Given the description of an element on the screen output the (x, y) to click on. 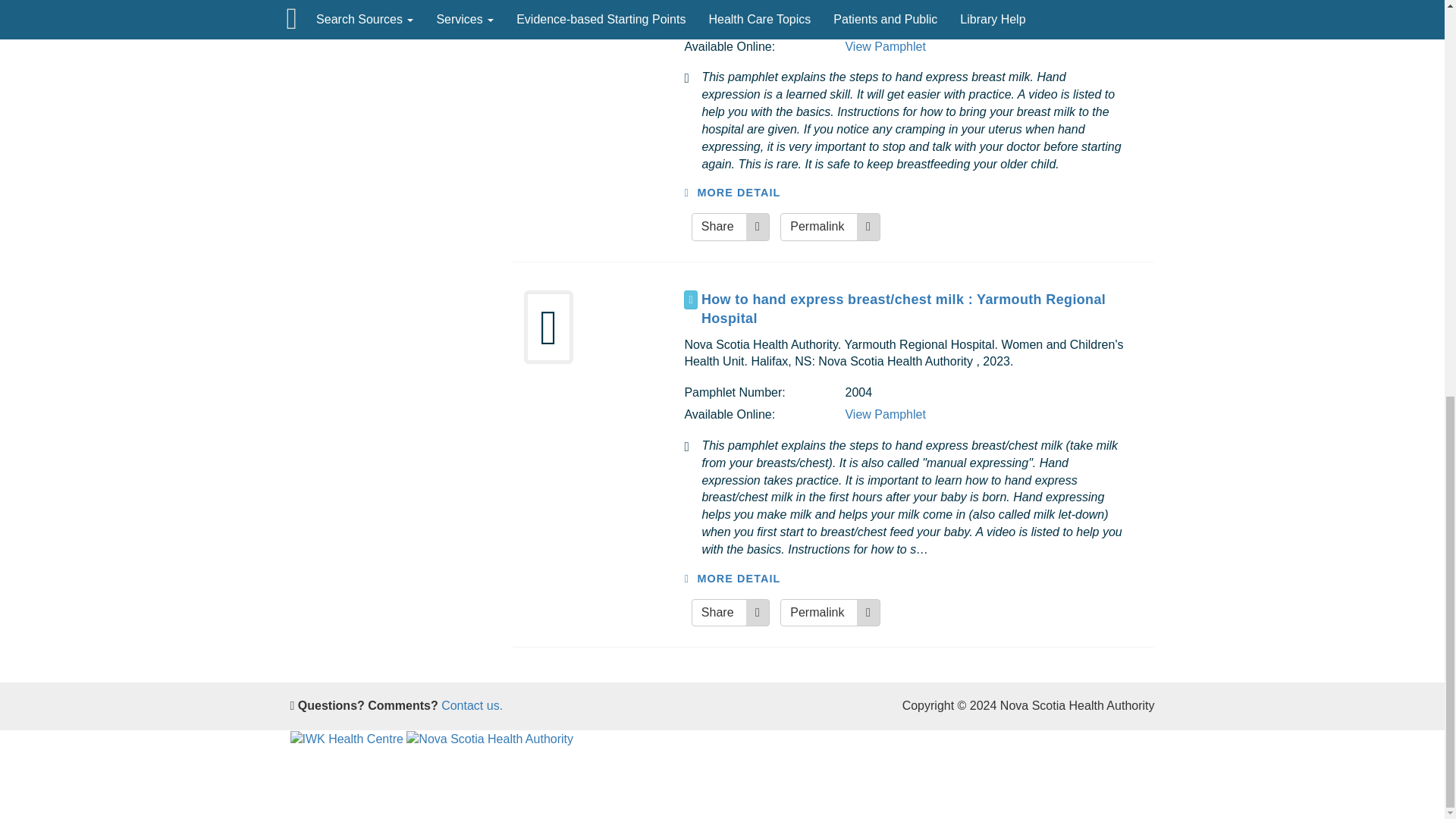
Permalink (829, 226)
Toggle Full Record (921, 309)
Permalink (829, 612)
